Given the description of an element on the screen output the (x, y) to click on. 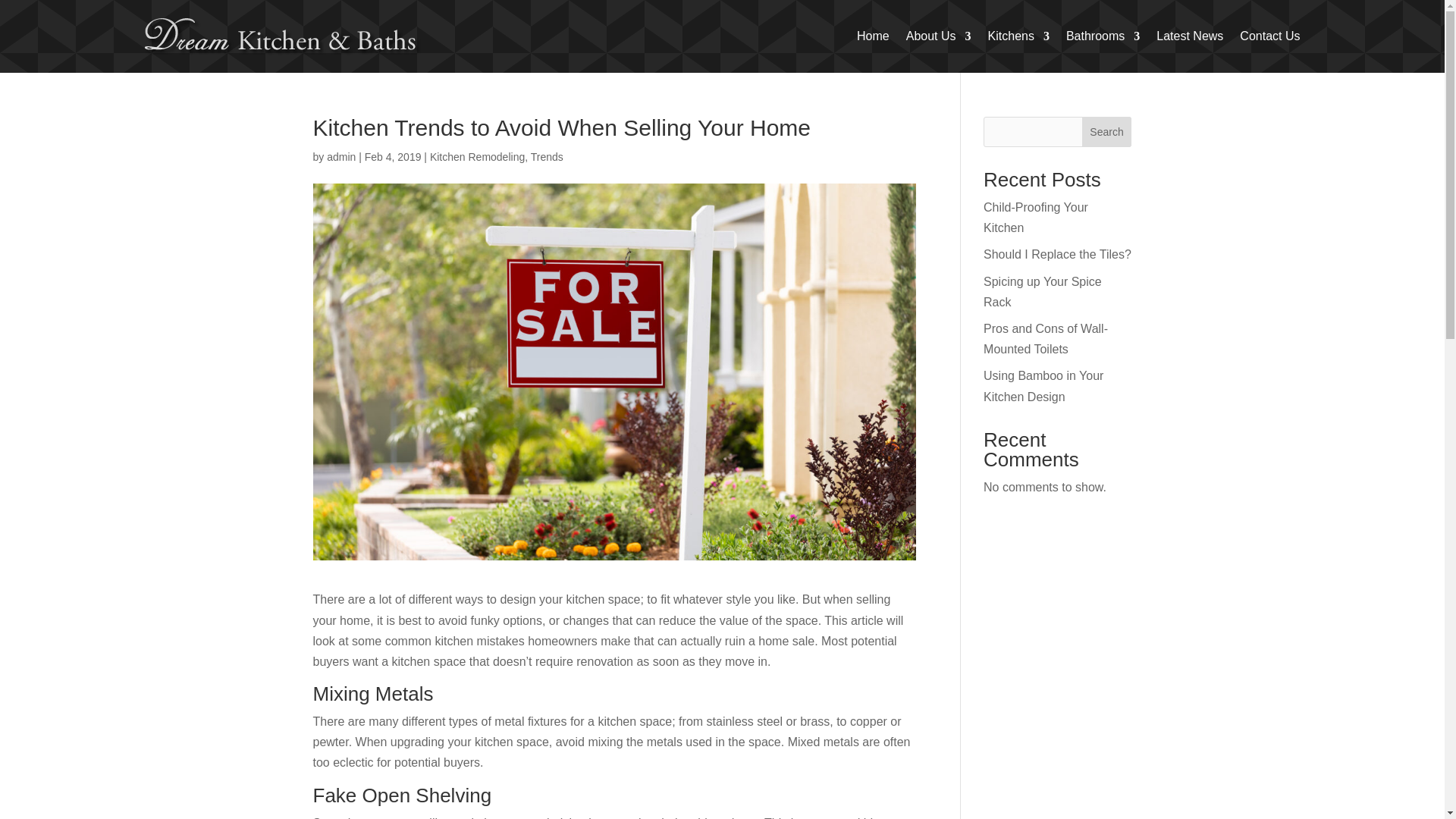
Latest News (1189, 36)
Kitchens (1018, 36)
Bathrooms (1102, 36)
Spicing up Your Spice Rack (1043, 291)
Posts by admin (340, 156)
Should I Replace the Tiles? (1057, 254)
Using Bamboo in Your Kitchen Design (1043, 385)
Pros and Cons of Wall-Mounted Toilets (1046, 338)
Kitchen Remodeling (476, 156)
About Us (938, 36)
